Given the description of an element on the screen output the (x, y) to click on. 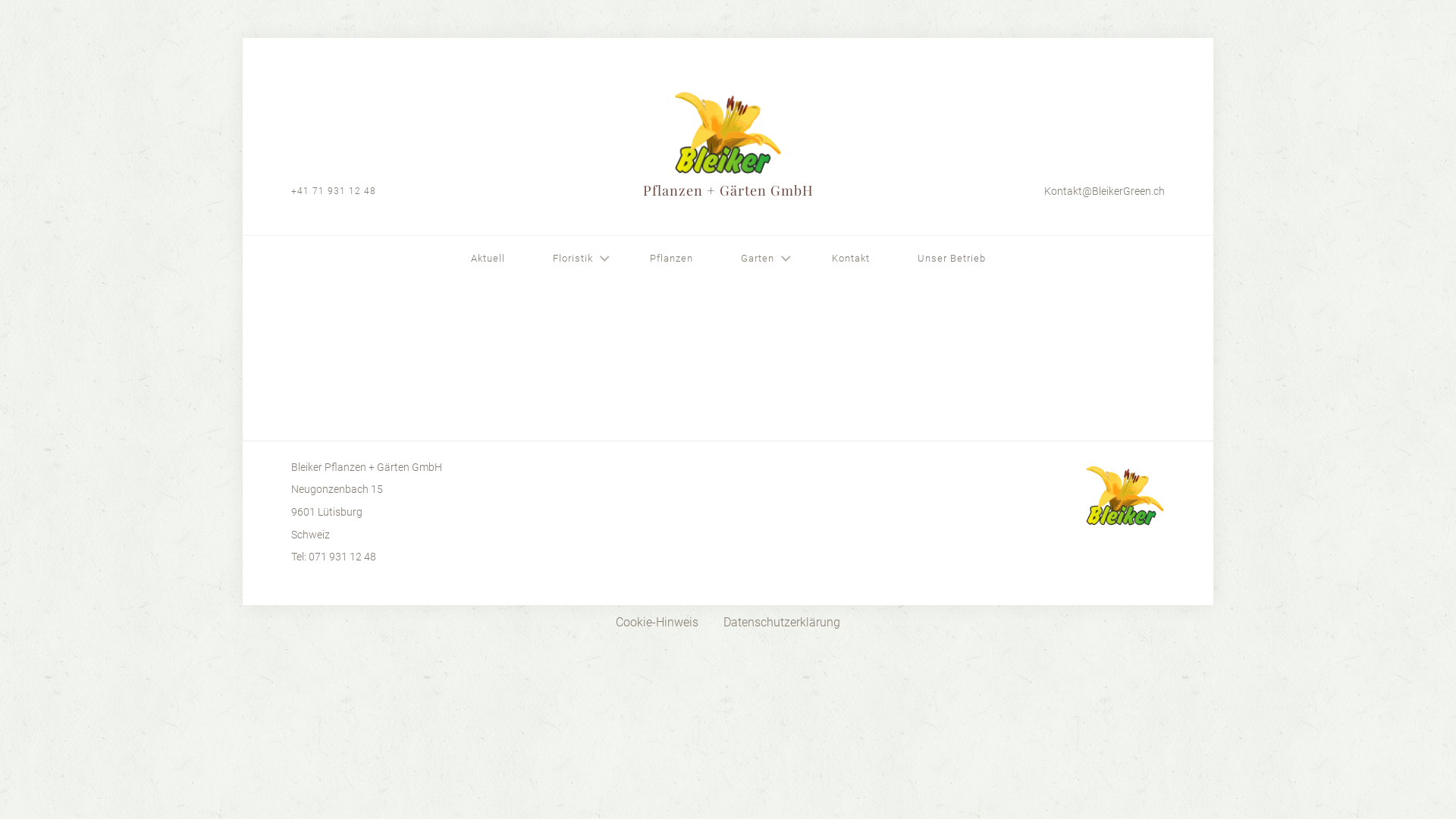
Aktuell Element type: text (487, 258)
Kontakt Element type: text (849, 258)
Kontakt@BleikerGreen.ch Element type: text (988, 191)
Pflanzen Element type: text (671, 258)
Unser Betrieb Element type: text (951, 258)
Cookie-Hinweis Element type: text (656, 622)
